Given the description of an element on the screen output the (x, y) to click on. 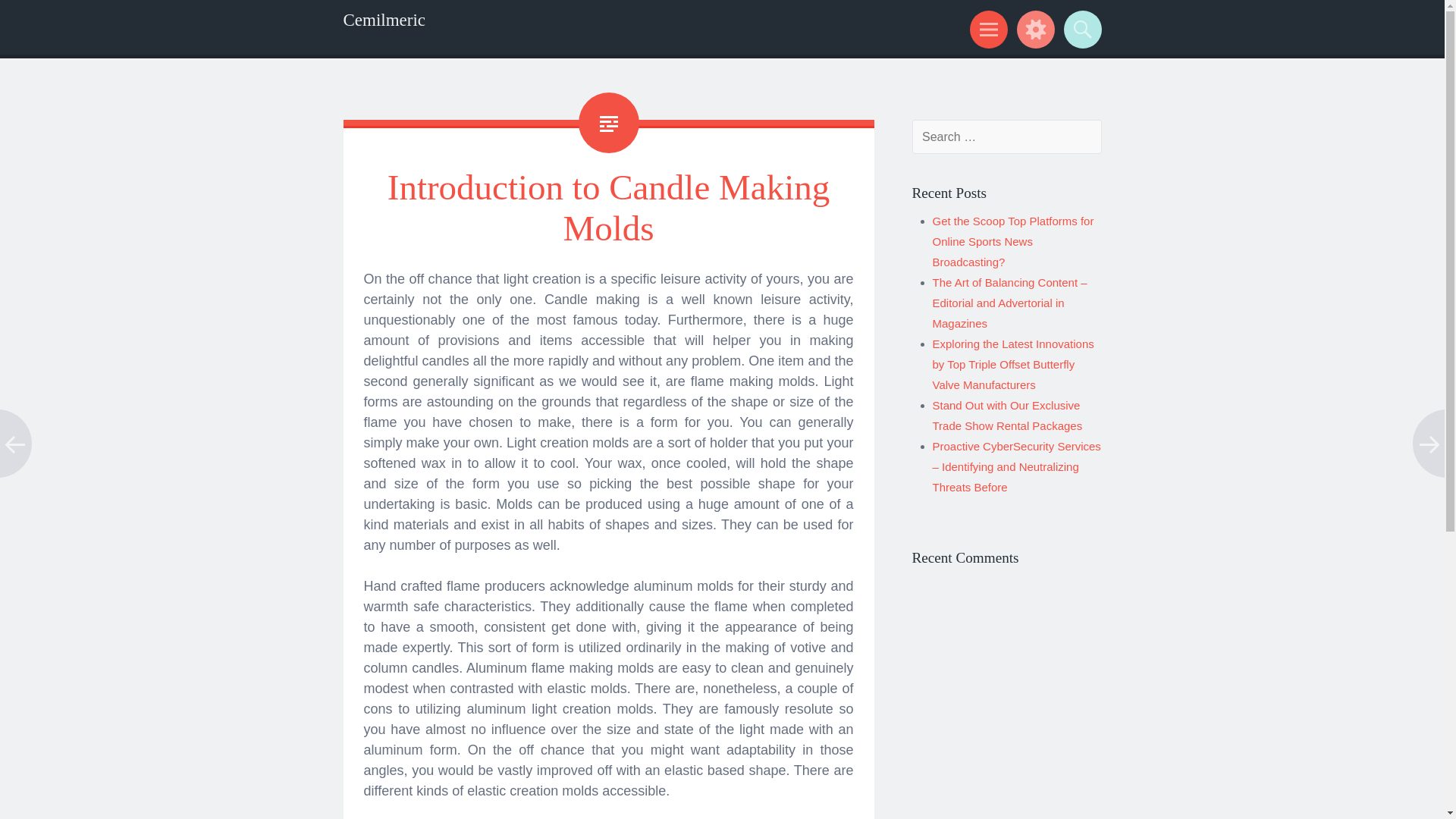
Search (1080, 29)
Cemilmeric (383, 19)
Widgets (1032, 29)
Menu (985, 29)
